Given the description of an element on the screen output the (x, y) to click on. 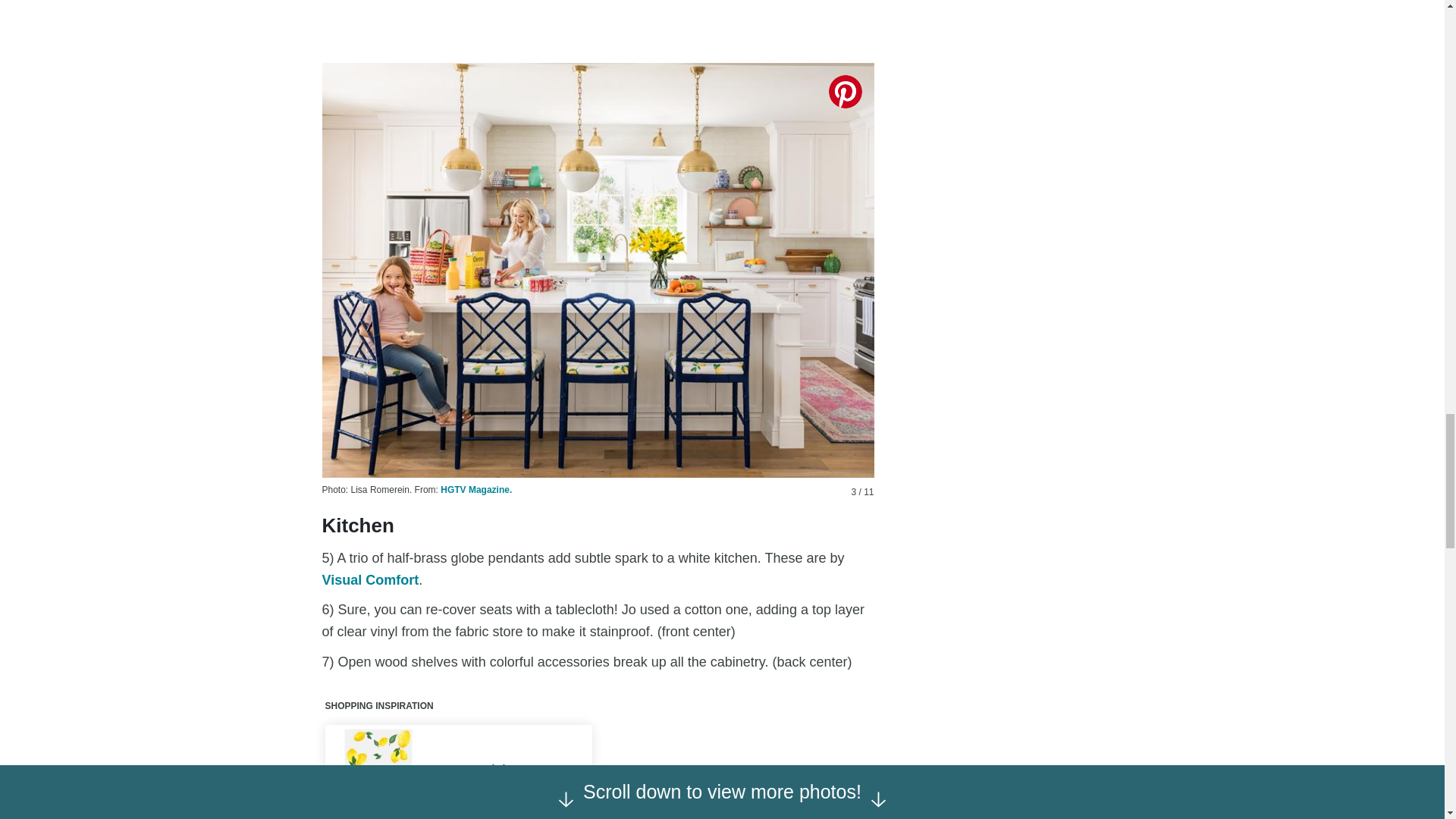
Lemon Fabric (376, 771)
3rd party ad content (597, 13)
Lemon Fabric (494, 769)
